Given the description of an element on the screen output the (x, y) to click on. 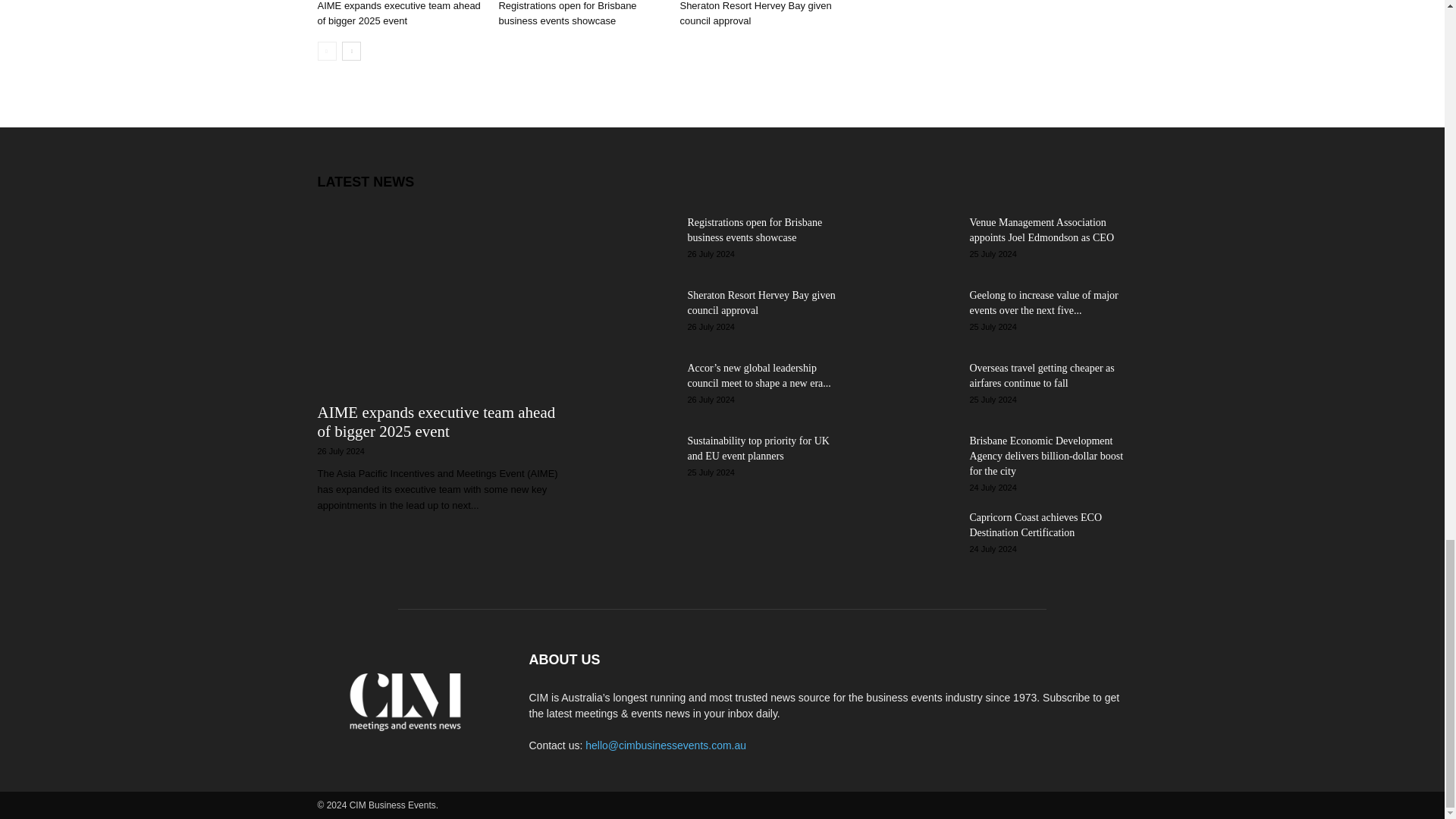
Sheraton Resort Hervey Bay given council approval (755, 13)
AIME expands executive team ahead of bigger 2025 event (398, 13)
Registrations open for Brisbane business events showcase (566, 13)
